Given the description of an element on the screen output the (x, y) to click on. 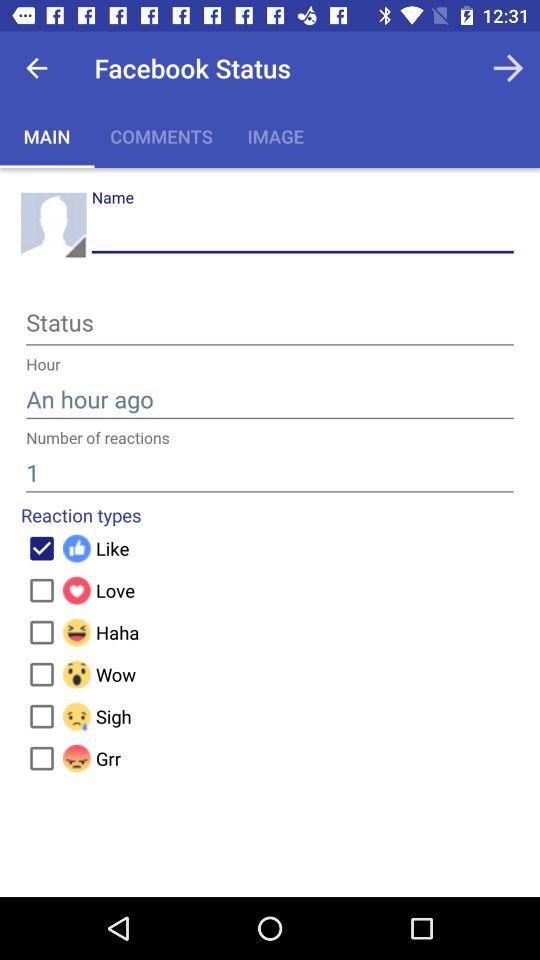
name entry (302, 232)
